Given the description of an element on the screen output the (x, y) to click on. 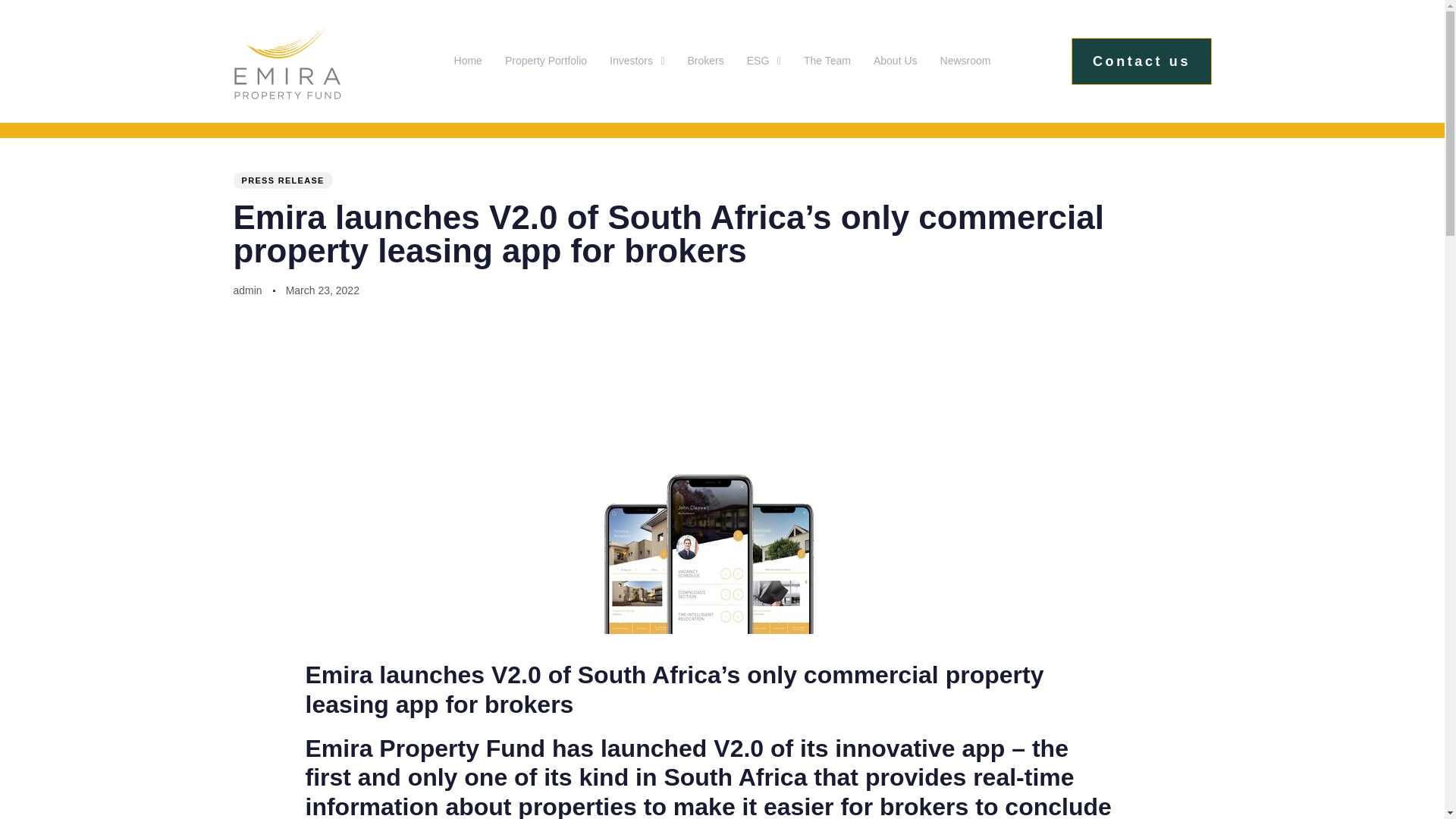
Posts by admin (247, 290)
Contact us (1141, 61)
